Given the description of an element on the screen output the (x, y) to click on. 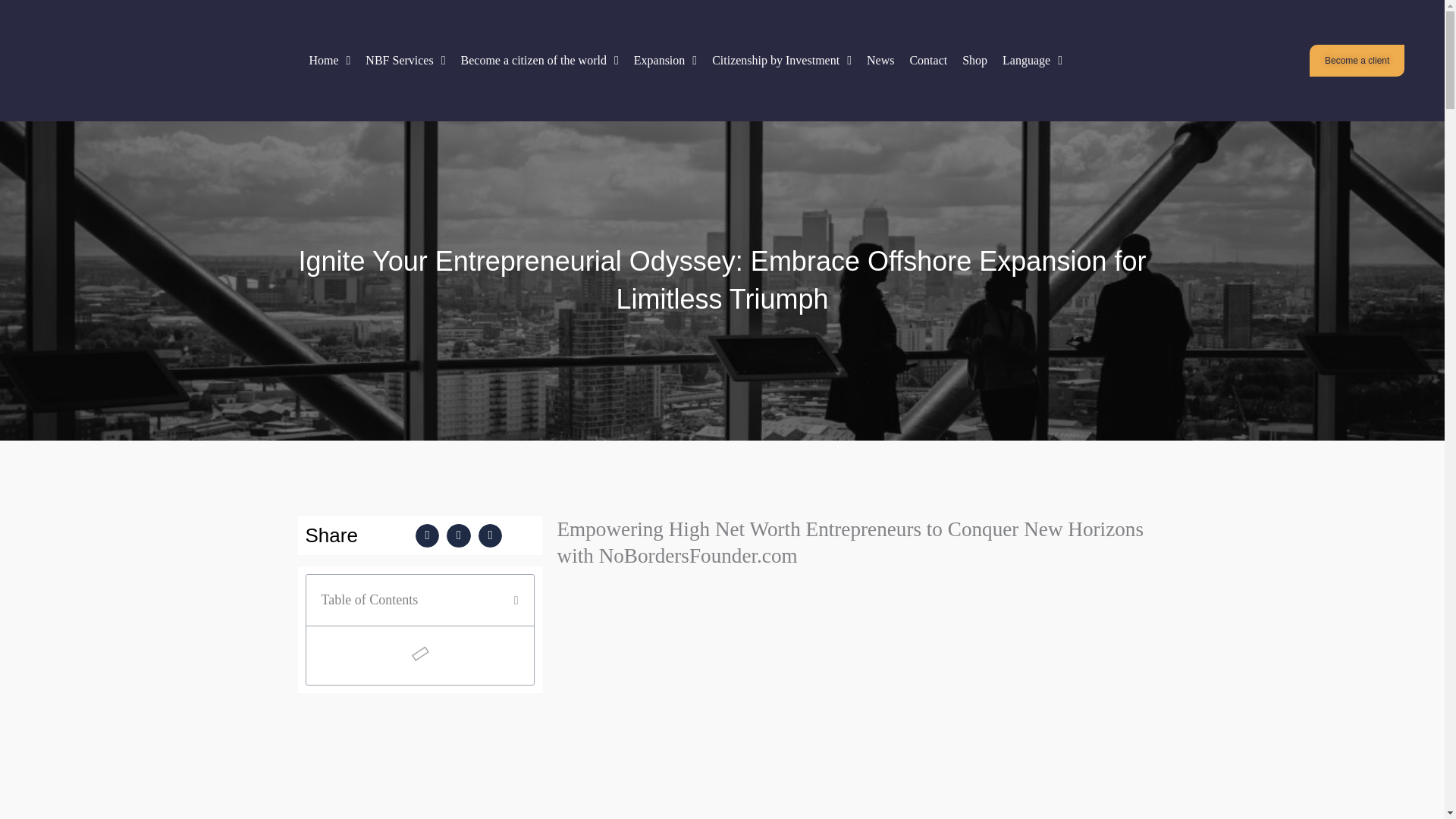
Home (329, 60)
NBF Services (405, 60)
Citizenship by Investment (781, 60)
Become a citizen of the world (539, 60)
Expansion (665, 60)
